Given the description of an element on the screen output the (x, y) to click on. 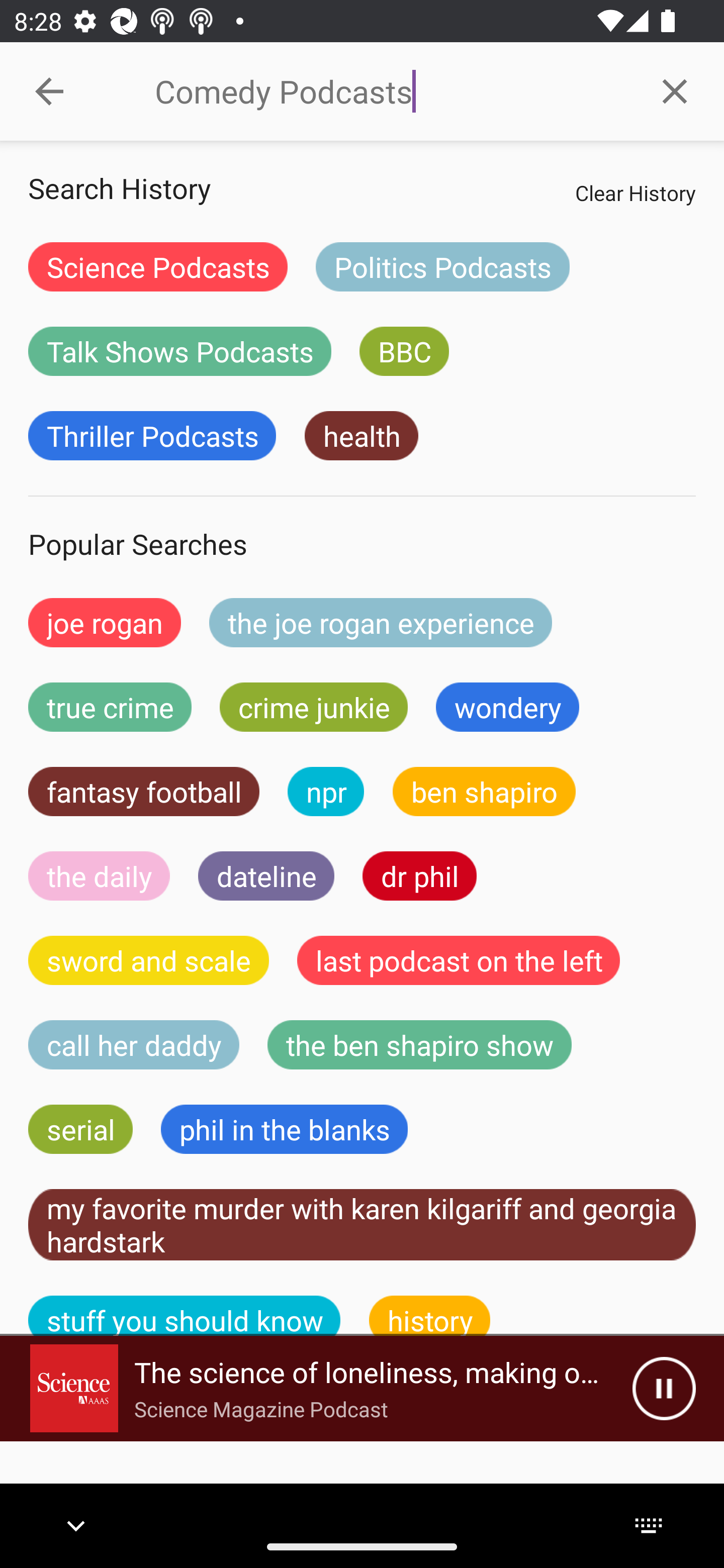
Collapse (49, 91)
Clear query (674, 90)
Comedy Podcasts (389, 91)
Clear History (634, 192)
Science Podcasts (157, 266)
Politics Podcasts (442, 266)
Talk Shows Podcasts (179, 351)
BBC (403, 351)
Thriller Podcasts (152, 435)
health (361, 435)
joe rogan (104, 622)
the joe rogan experience (380, 622)
true crime (109, 707)
crime junkie (313, 707)
wondery (507, 707)
fantasy football (143, 791)
npr (325, 791)
ben shapiro (483, 791)
the daily (99, 875)
dateline (266, 875)
dr phil (419, 875)
sword and scale (148, 960)
last podcast on the left (458, 960)
call her daddy (133, 1044)
the ben shapiro show (419, 1044)
serial (80, 1128)
phil in the blanks (283, 1128)
stuff you should know (184, 1315)
history (429, 1315)
Pause (663, 1388)
